Given the description of an element on the screen output the (x, y) to click on. 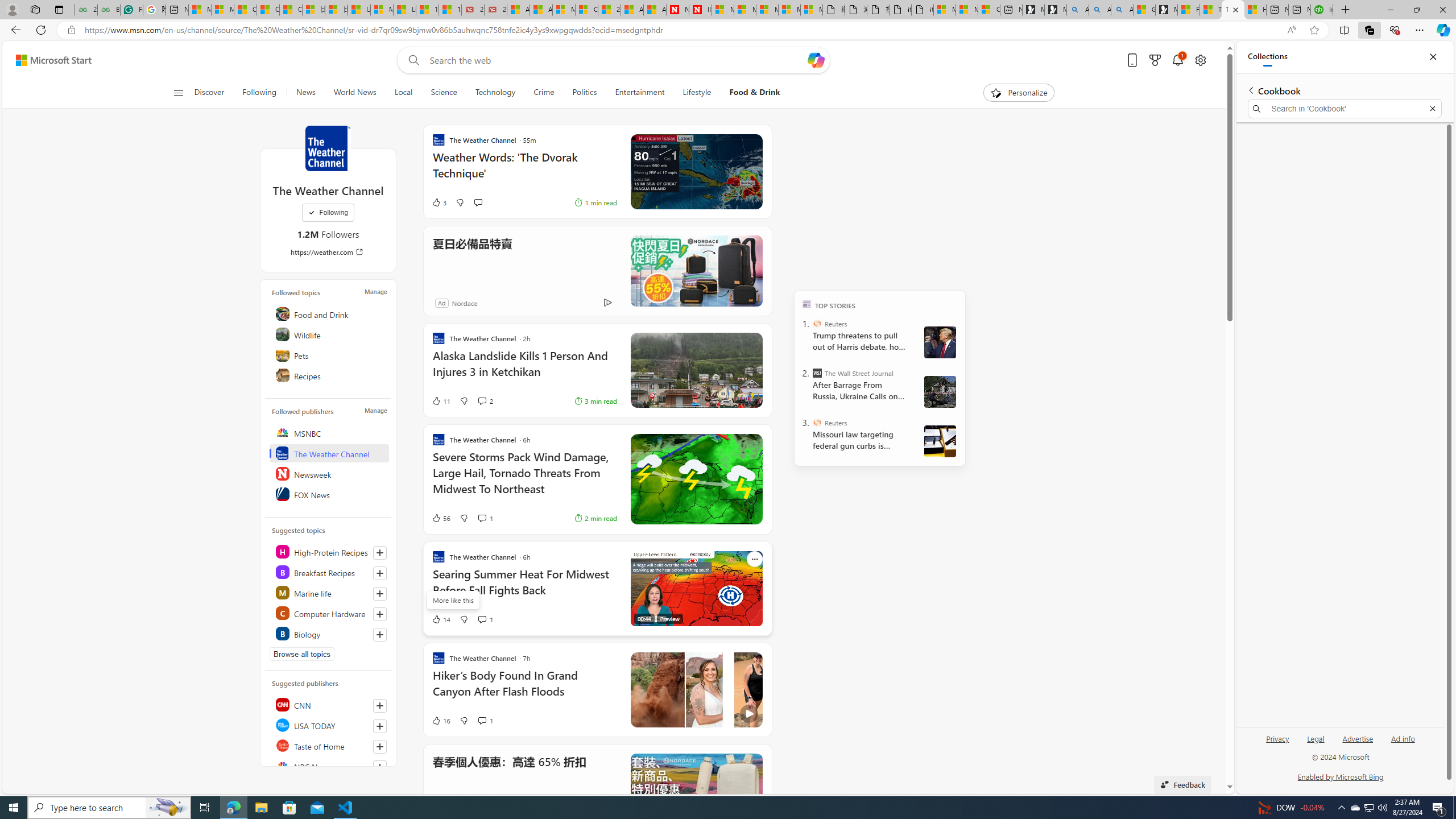
Recipes (328, 375)
